Given the description of an element on the screen output the (x, y) to click on. 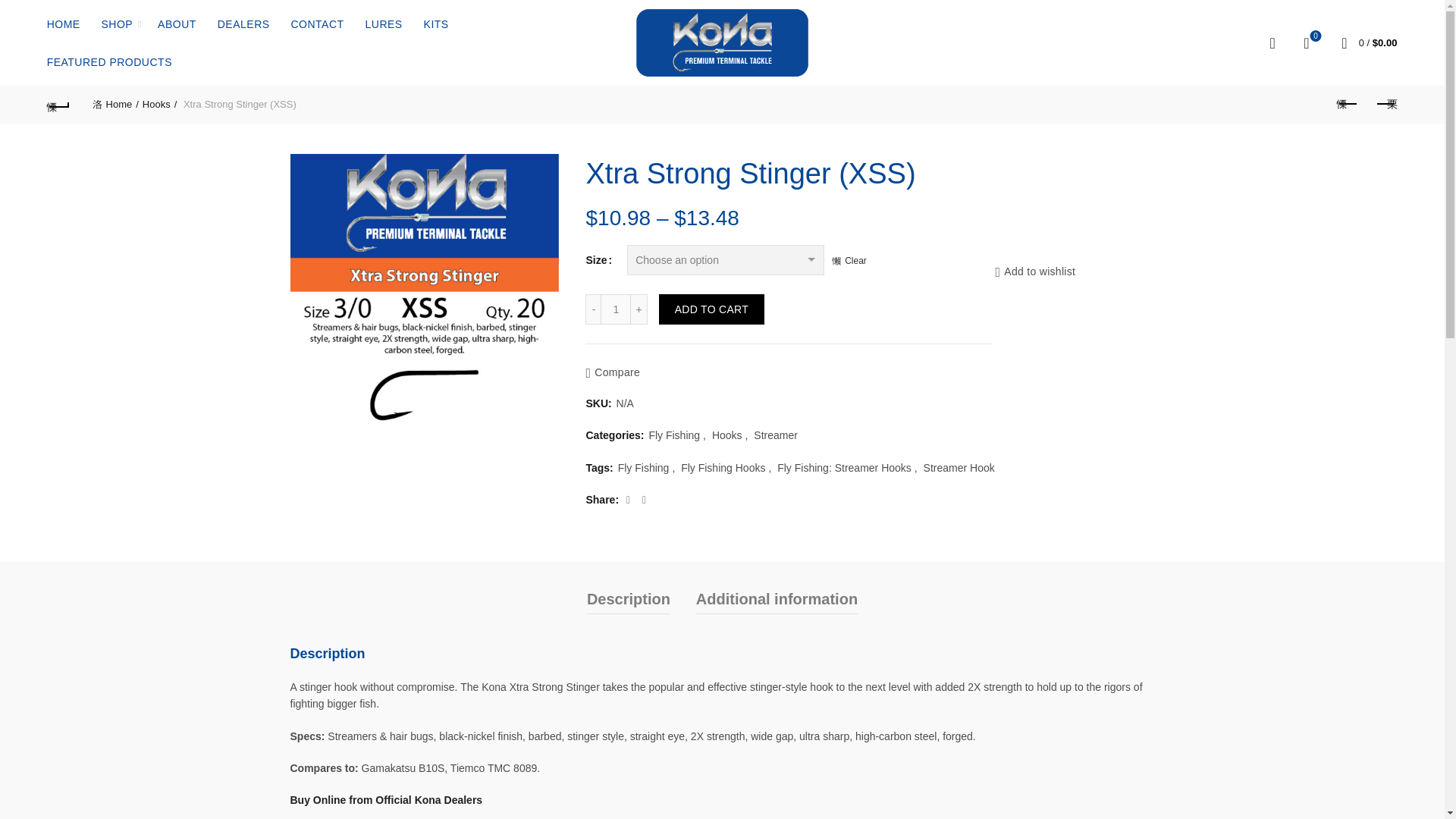
SXX-Resized (424, 288)
KITS (435, 23)
DEALERS (243, 23)
Previous product (1347, 104)
- (1306, 42)
1 (592, 309)
LURES (614, 309)
Home (383, 23)
Qty (115, 103)
HOME (614, 309)
Next product (63, 23)
Search (1386, 104)
SHOP (30, 45)
CONTACT (116, 23)
